Given the description of an element on the screen output the (x, y) to click on. 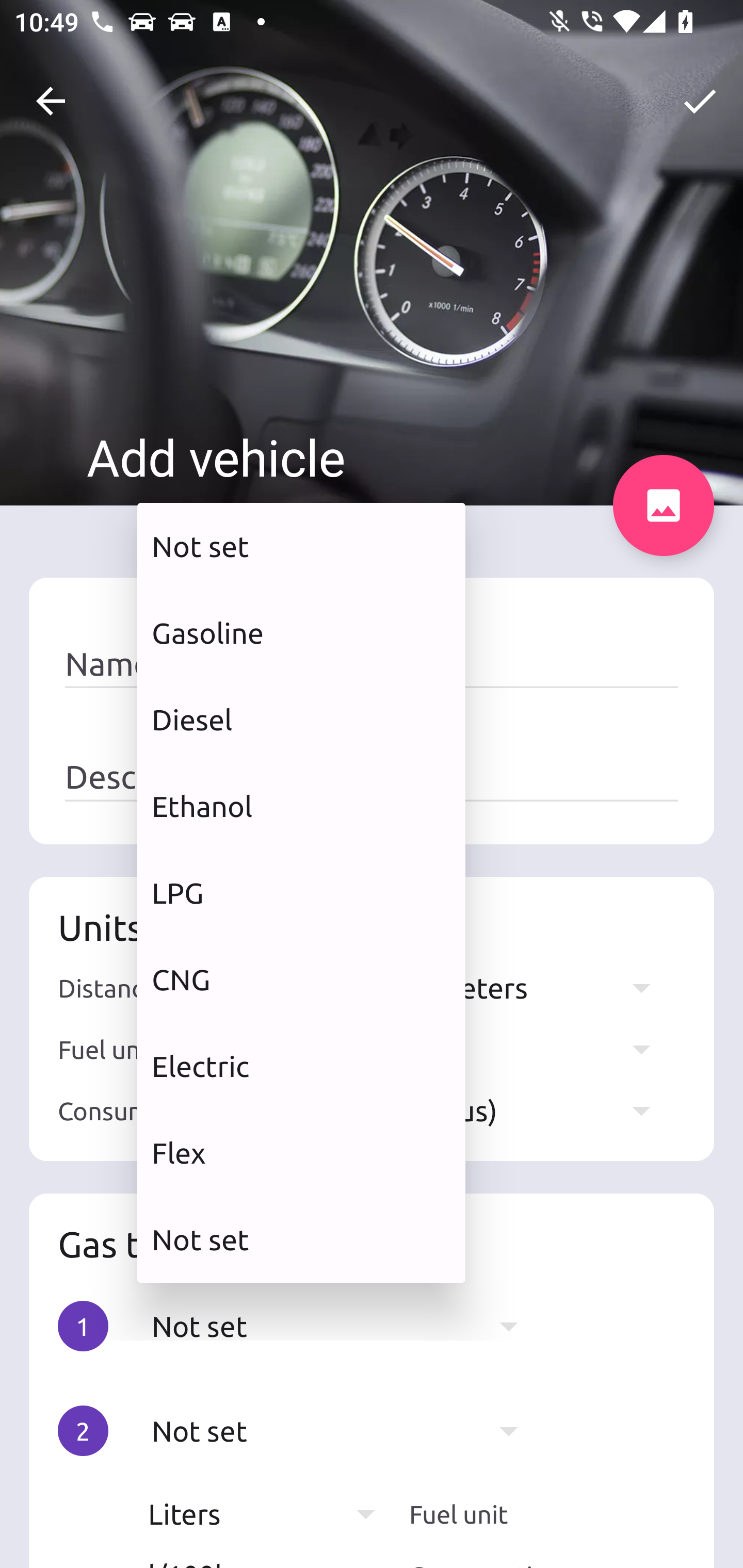
Not set (301, 546)
Gasoline (301, 632)
Diesel (301, 719)
Ethanol (301, 806)
LPG (301, 892)
CNG (301, 979)
Electric (301, 1066)
Flex (301, 1153)
Not set (301, 1239)
